Given the description of an element on the screen output the (x, y) to click on. 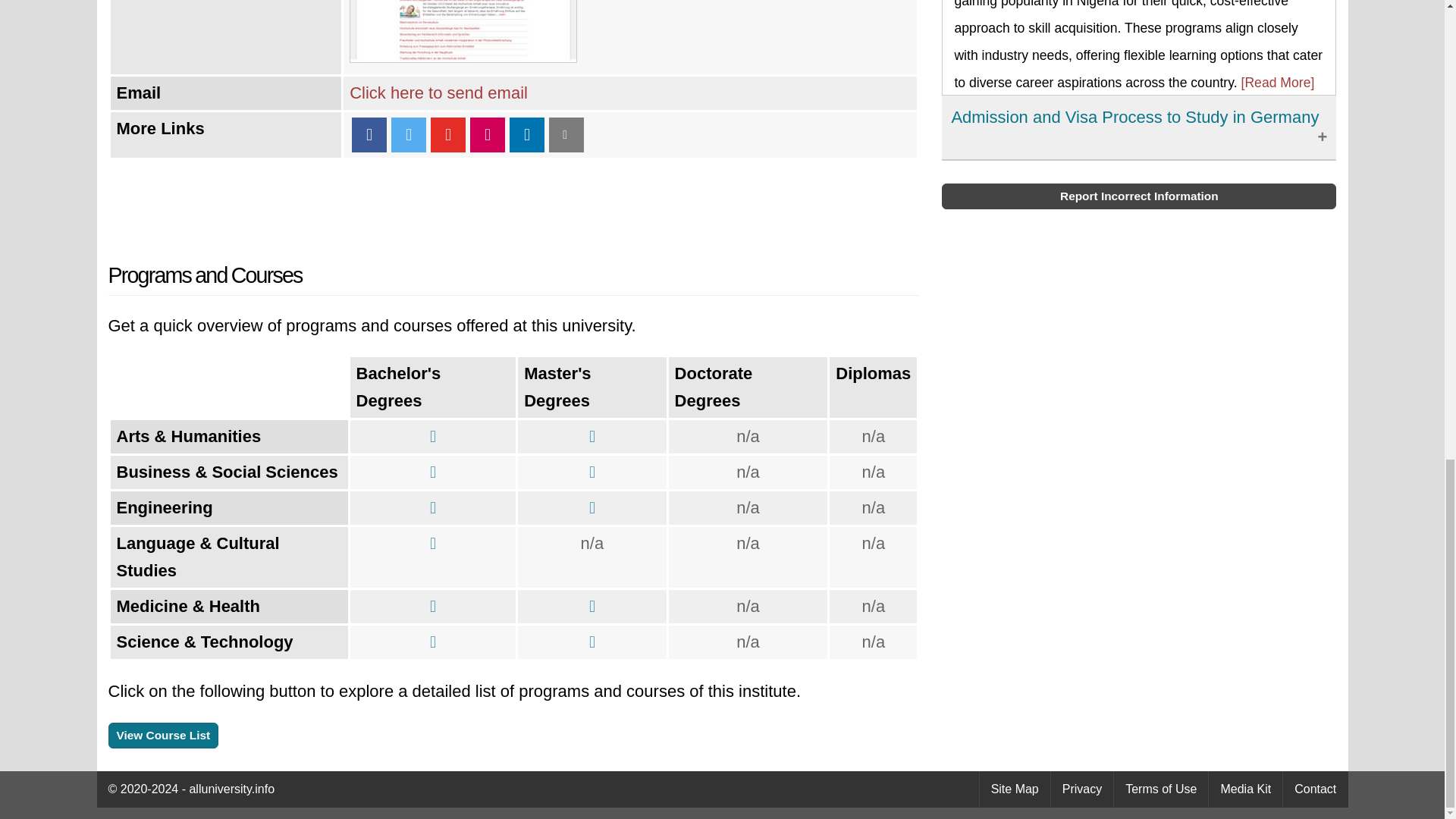
Anhalt University of Applied Sciences Website (462, 56)
Privacy (1082, 789)
Site Map (1014, 789)
View Course List (162, 735)
Report Incorrect Information (1139, 196)
Send an email to Anhalt University of Applied Sciences (438, 92)
Media Kit (1245, 789)
Click here to send email (438, 92)
Admission and Visa Process to Study in Germany (1139, 126)
Terms of Use (1160, 789)
